Given the description of an element on the screen output the (x, y) to click on. 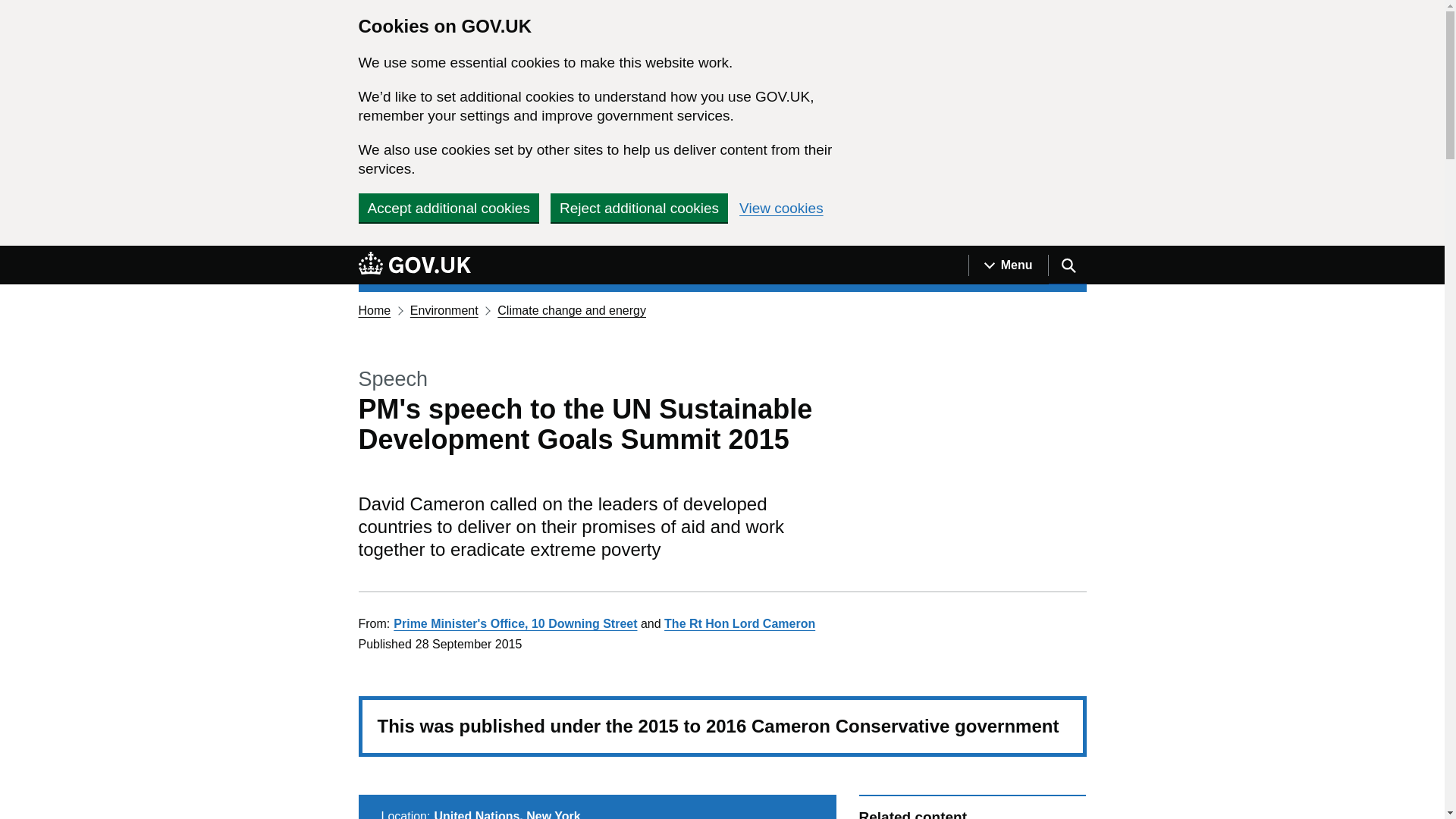
Accept additional cookies (448, 207)
Prime Minister's Office, 10 Downing Street (515, 623)
Menu (1008, 265)
Reject additional cookies (639, 207)
View cookies (781, 207)
Climate change and energy (571, 309)
GOV.UK (414, 264)
Search GOV.UK (1067, 265)
Environment (444, 309)
Skip to main content (11, 254)
Home (374, 309)
The Rt Hon Lord Cameron (739, 623)
GOV.UK (414, 262)
